Given the description of an element on the screen output the (x, y) to click on. 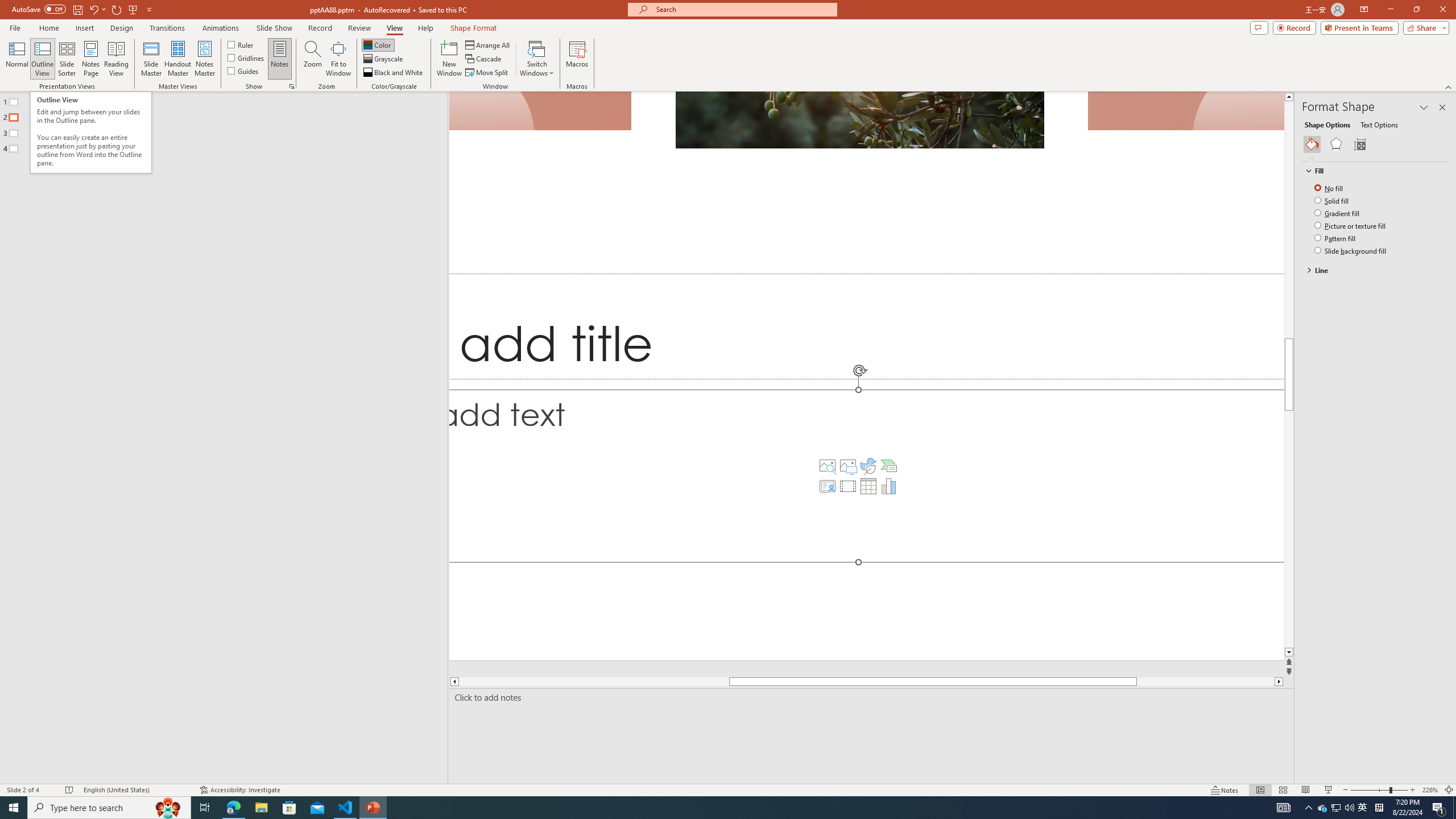
Zoom... (312, 58)
Switch Windows (537, 58)
Fit to Window (338, 58)
